Given the description of an element on the screen output the (x, y) to click on. 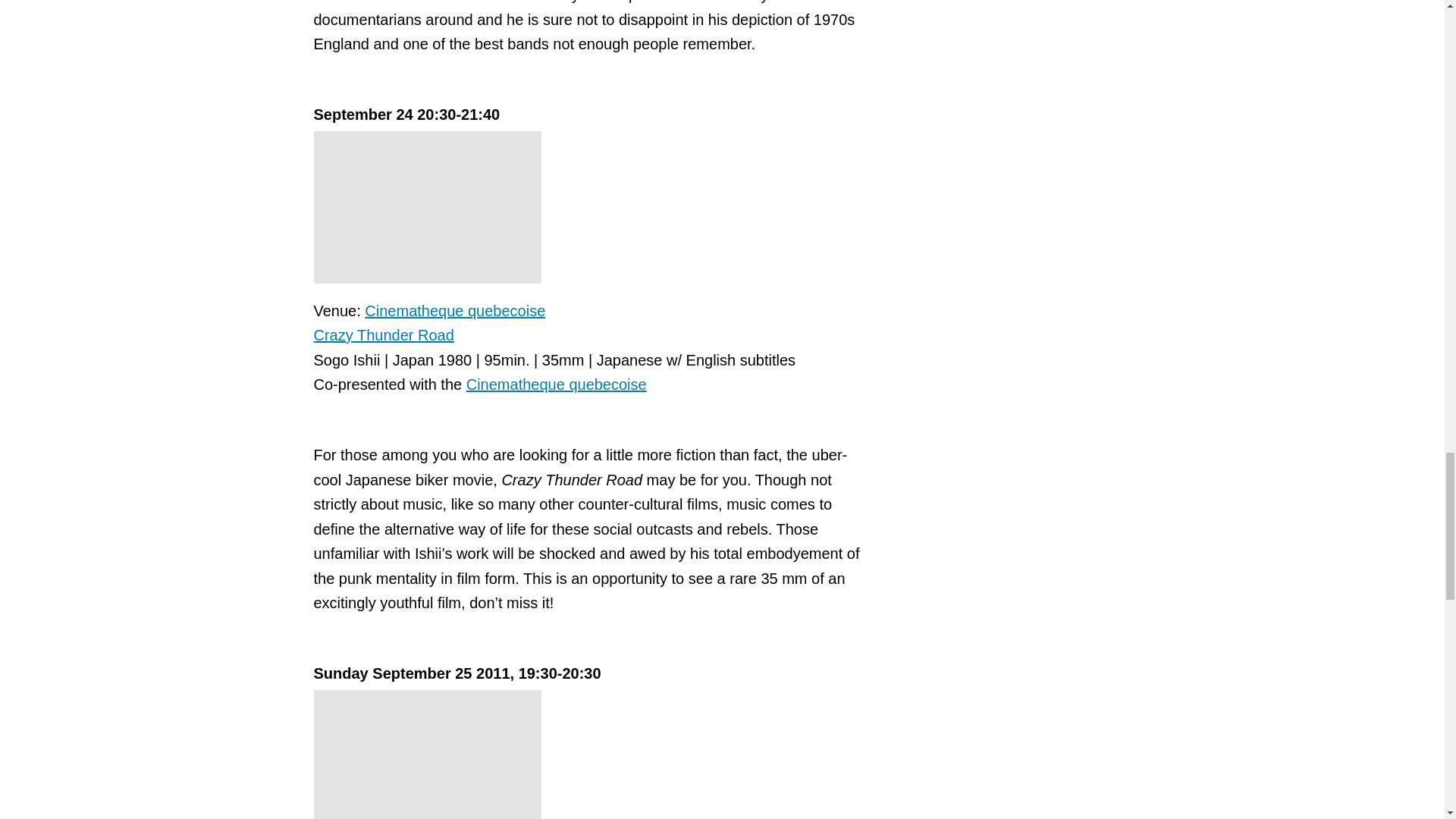
Cinematheque quebecoise (555, 384)
CRAZY THUNDER ROAD 1 (427, 207)
Crazy Thunder Road (384, 334)
deceiversscreen1vy9 (427, 754)
Cinematheque quebecoise (454, 310)
